Given the description of an element on the screen output the (x, y) to click on. 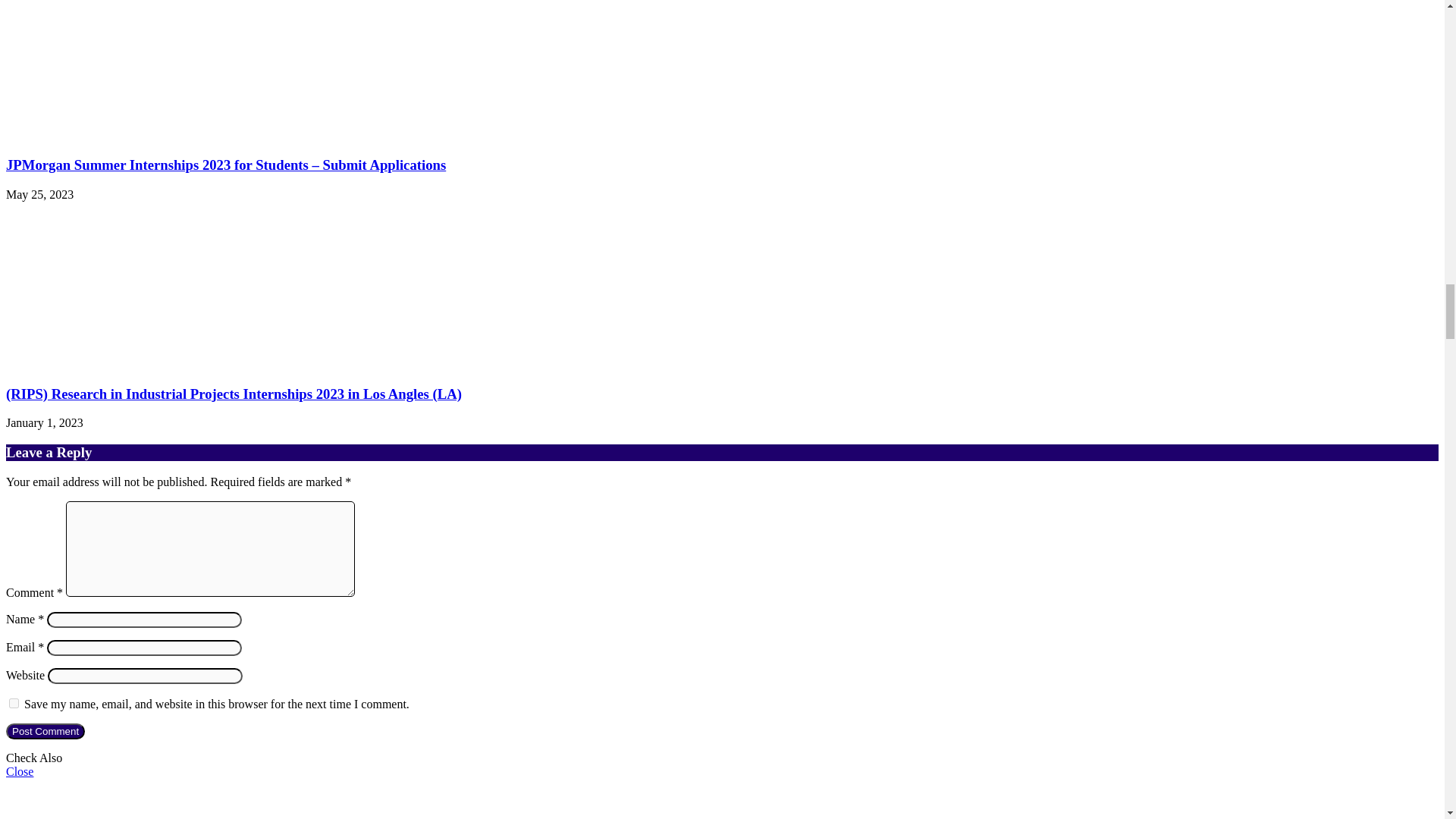
yes (13, 703)
Post Comment (44, 731)
